Given the description of an element on the screen output the (x, y) to click on. 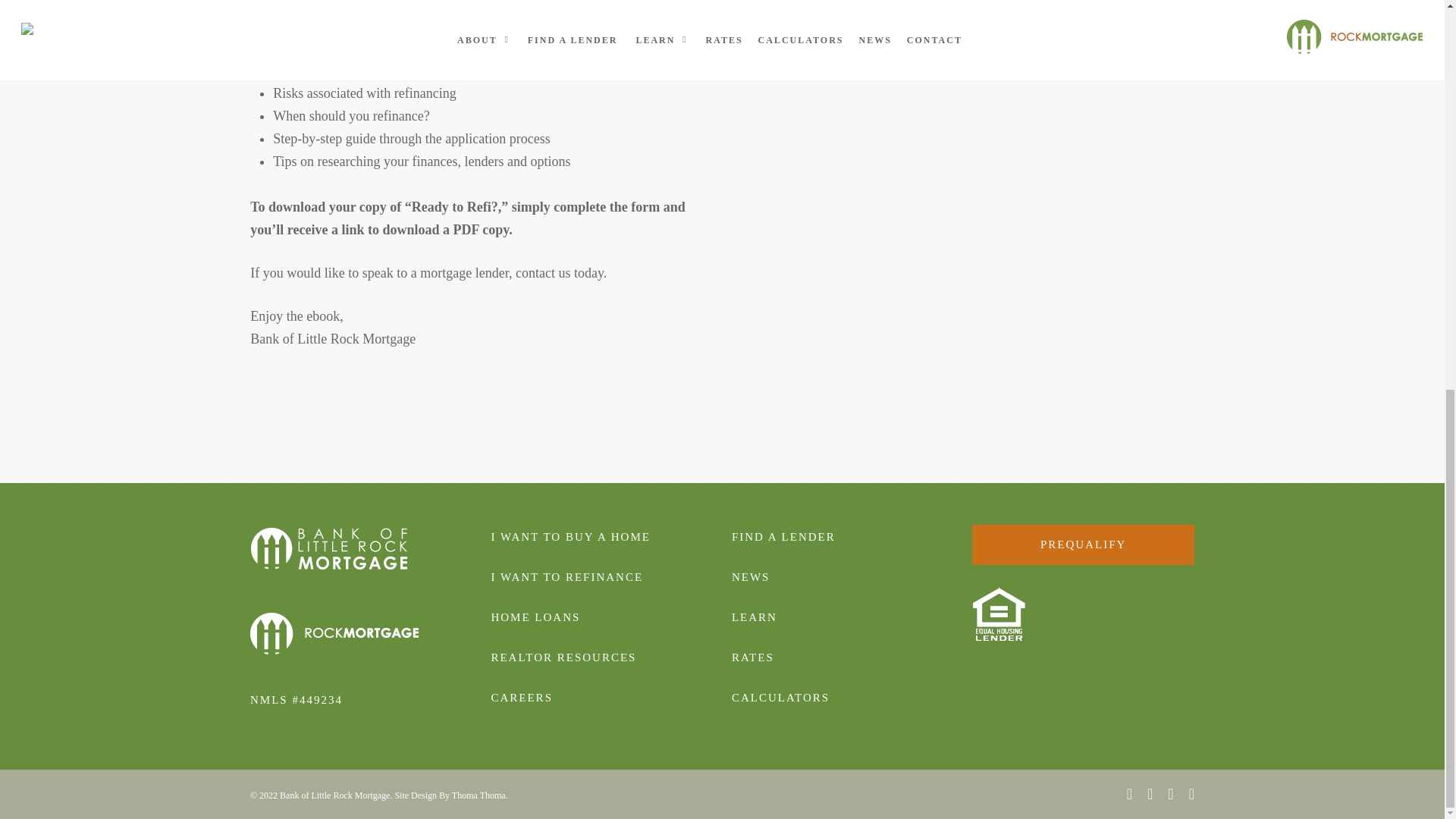
I WANT TO BUY A HOME (569, 536)
REALTOR RESOURCES (563, 657)
HOME LOANS (534, 616)
I WANT TO REFINANCE (566, 576)
